Given the description of an element on the screen output the (x, y) to click on. 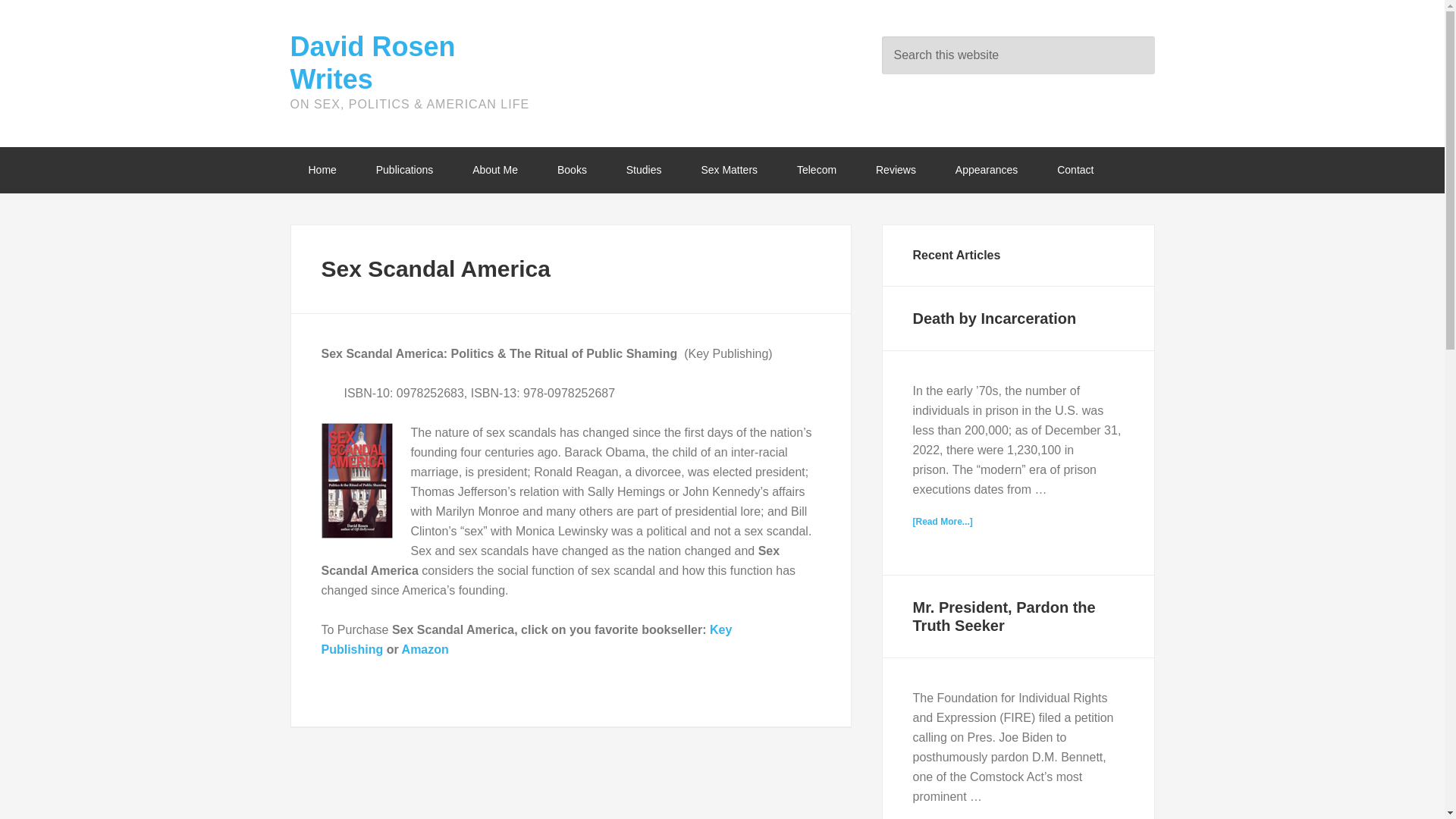
Contact (1075, 170)
Studies (643, 170)
Books (571, 170)
Death by Incarceration (994, 318)
David Rosen Writes (371, 63)
Telecom (816, 170)
Amazon (424, 649)
Appearances (986, 170)
